Given the description of an element on the screen output the (x, y) to click on. 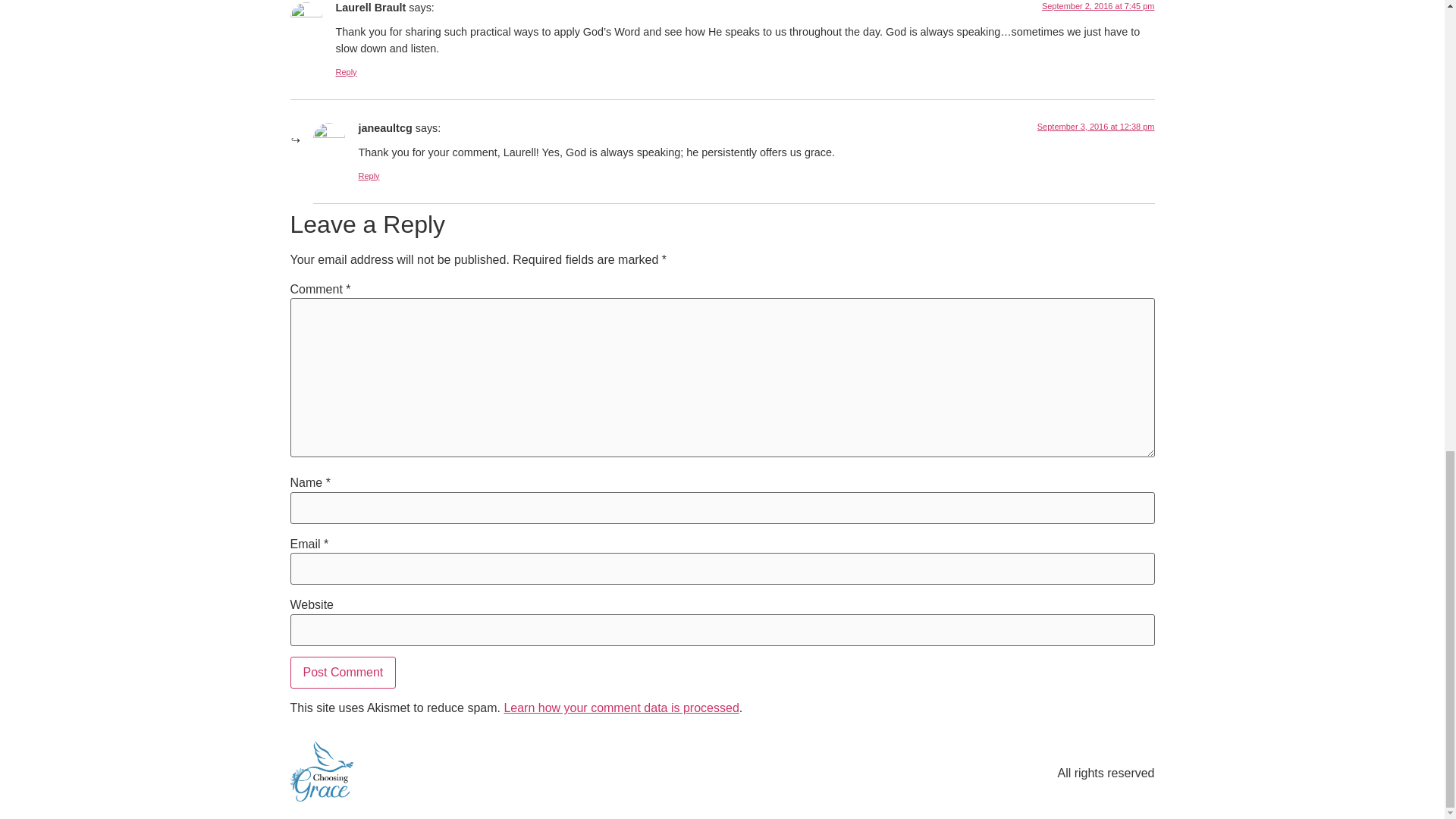
Reply (368, 175)
Post Comment (342, 672)
Reply (345, 71)
September 3, 2016 at 12:38 pm (1095, 126)
September 2, 2016 at 7:45 pm (1098, 5)
Post Comment (342, 672)
Learn how your comment data is processed (620, 707)
